Given the description of an element on the screen output the (x, y) to click on. 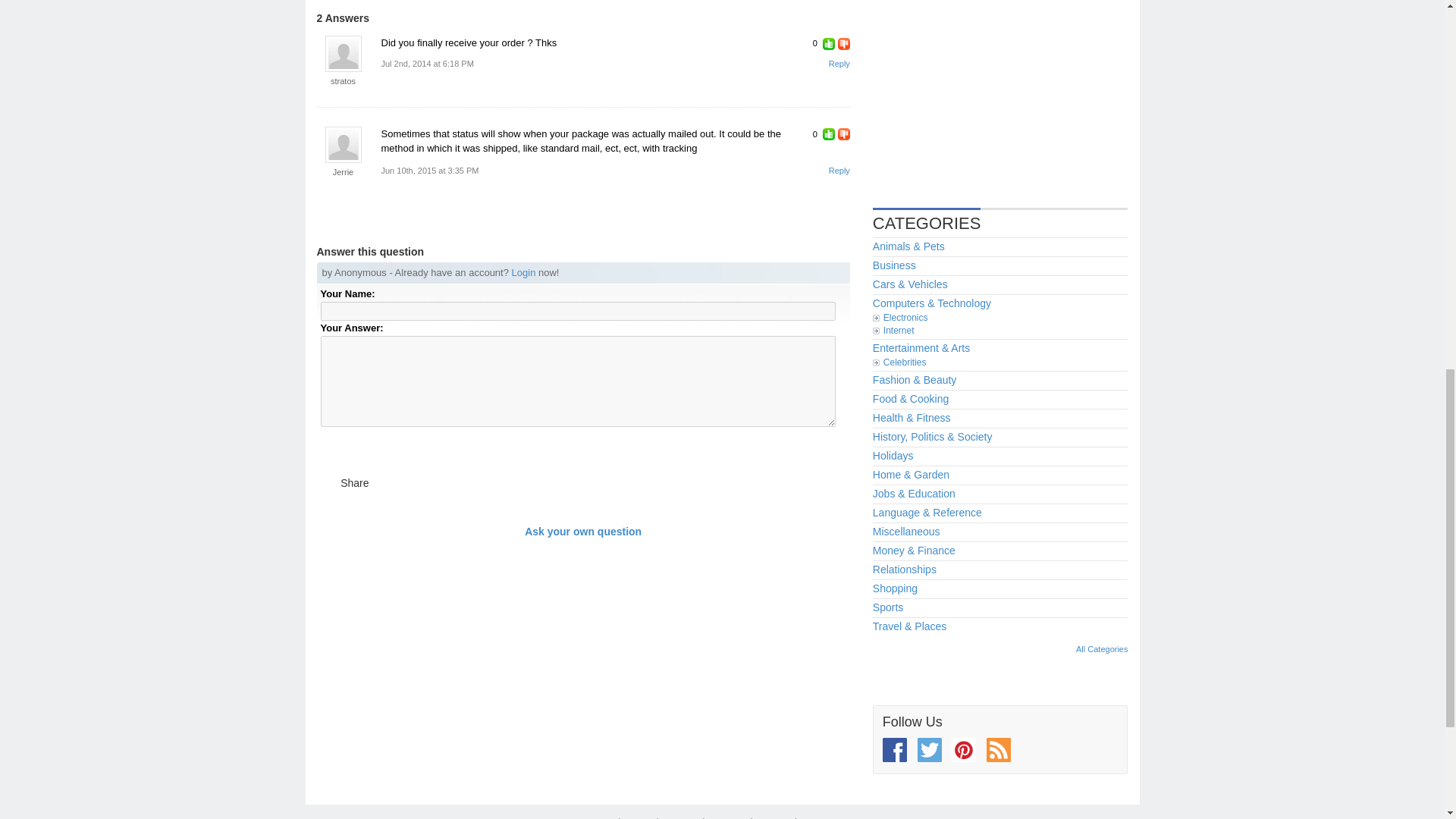
Jul 2nd, 2014 at 6:18 PM (426, 64)
This answer is useful (828, 43)
This answer is not useful (844, 43)
add a comment to this post (839, 62)
This answer is useful (828, 133)
